Given the description of an element on the screen output the (x, y) to click on. 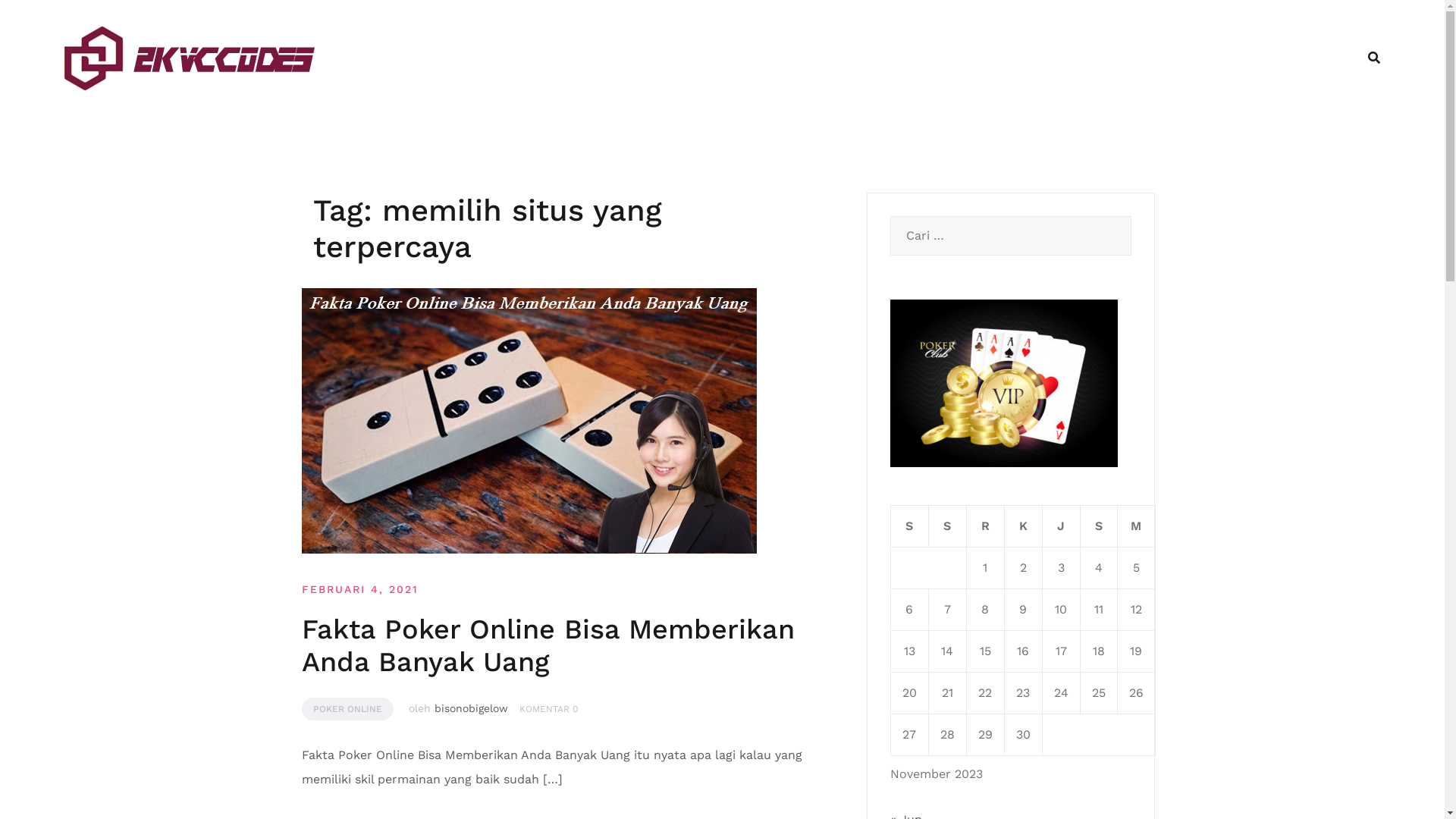
FEBRUARI 4, 2021 Element type: text (359, 589)
Cari Element type: text (37, 19)
bisonobigelow Element type: text (470, 708)
Fakta Poker Online Bisa Memberikan Anda Banyak Uang Element type: text (547, 645)
POKER ONLINE Element type: text (347, 708)
